Given the description of an element on the screen output the (x, y) to click on. 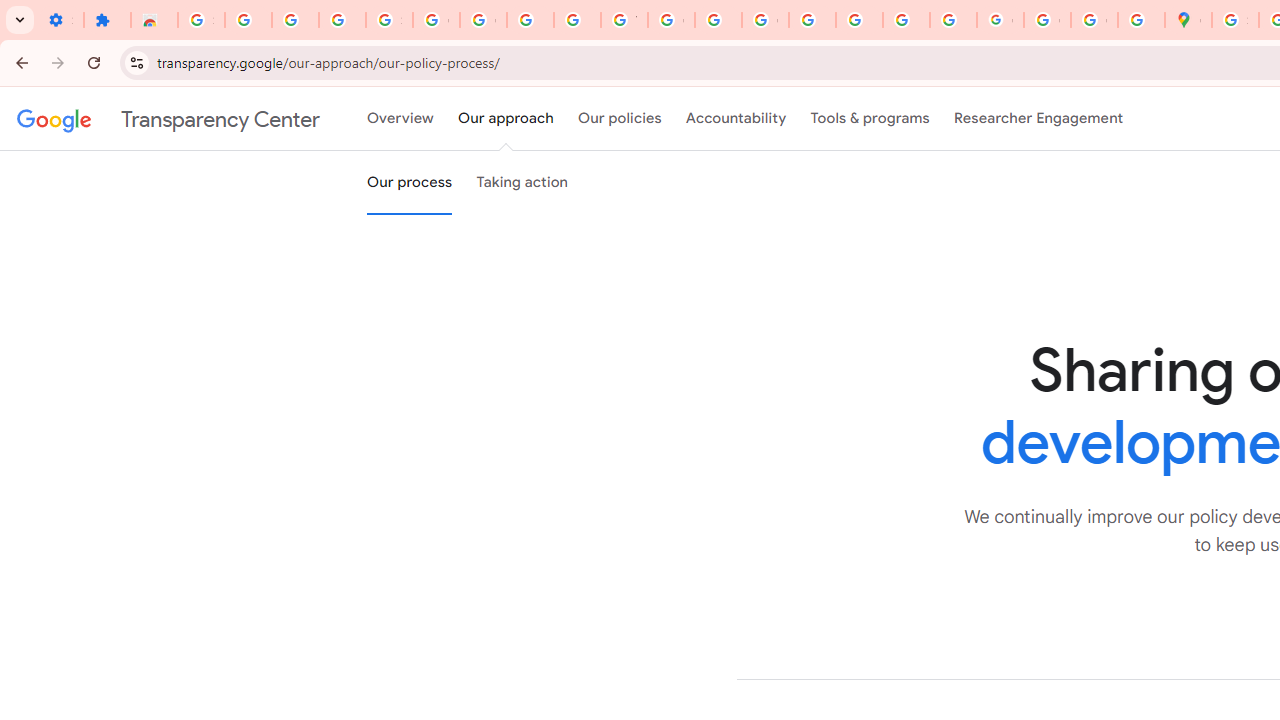
Our policies (619, 119)
Privacy Help Center - Policies Help (811, 20)
Reviews: Helix Fruit Jump Arcade Game (153, 20)
Taking action (522, 183)
Our approach (506, 119)
Tools & programs (869, 119)
